Given the description of an element on the screen output the (x, y) to click on. 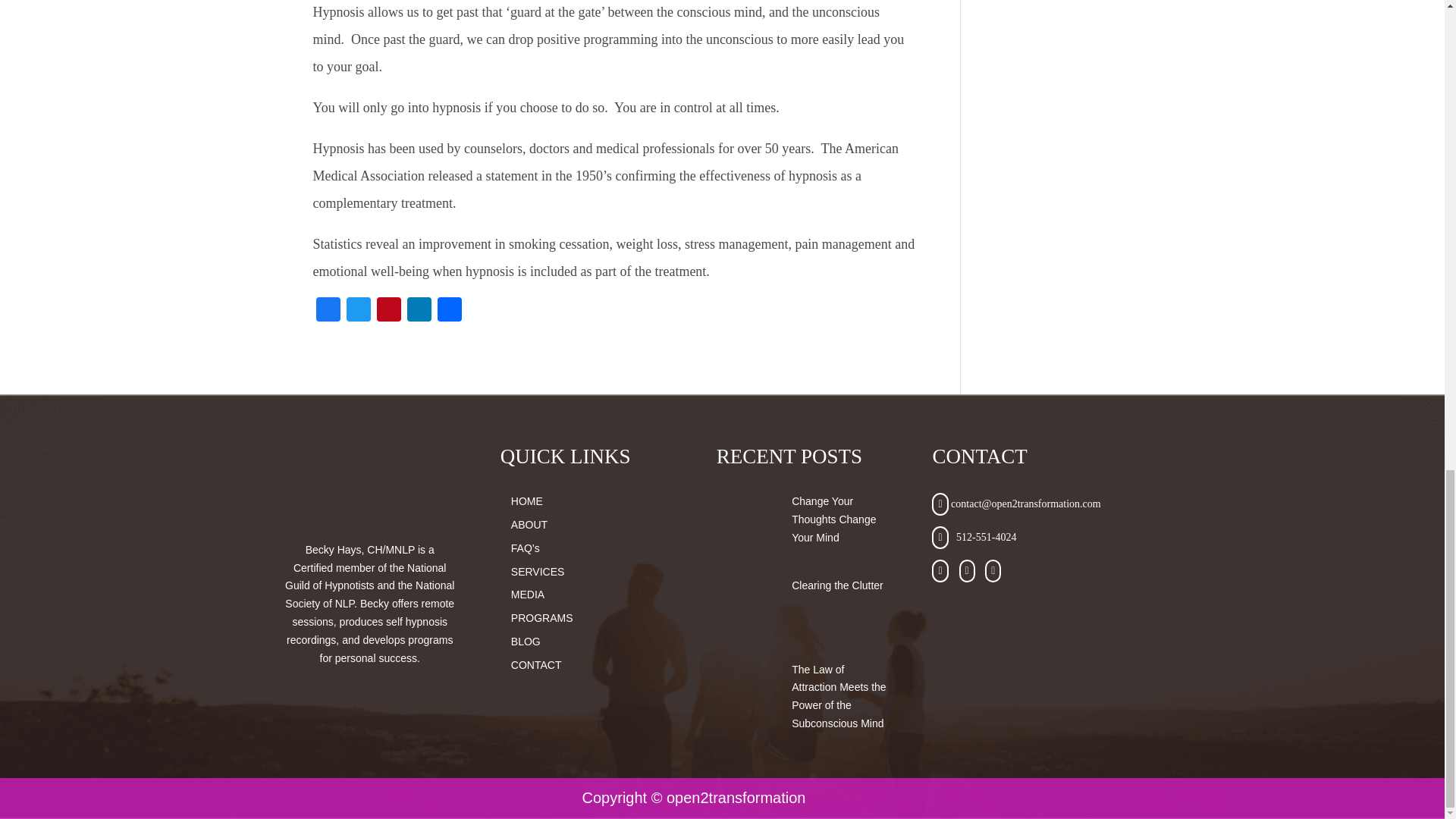
LinkedIn (418, 311)
Facebook (327, 311)
Pinterest (387, 311)
Twitter (357, 311)
